Given the description of an element on the screen output the (x, y) to click on. 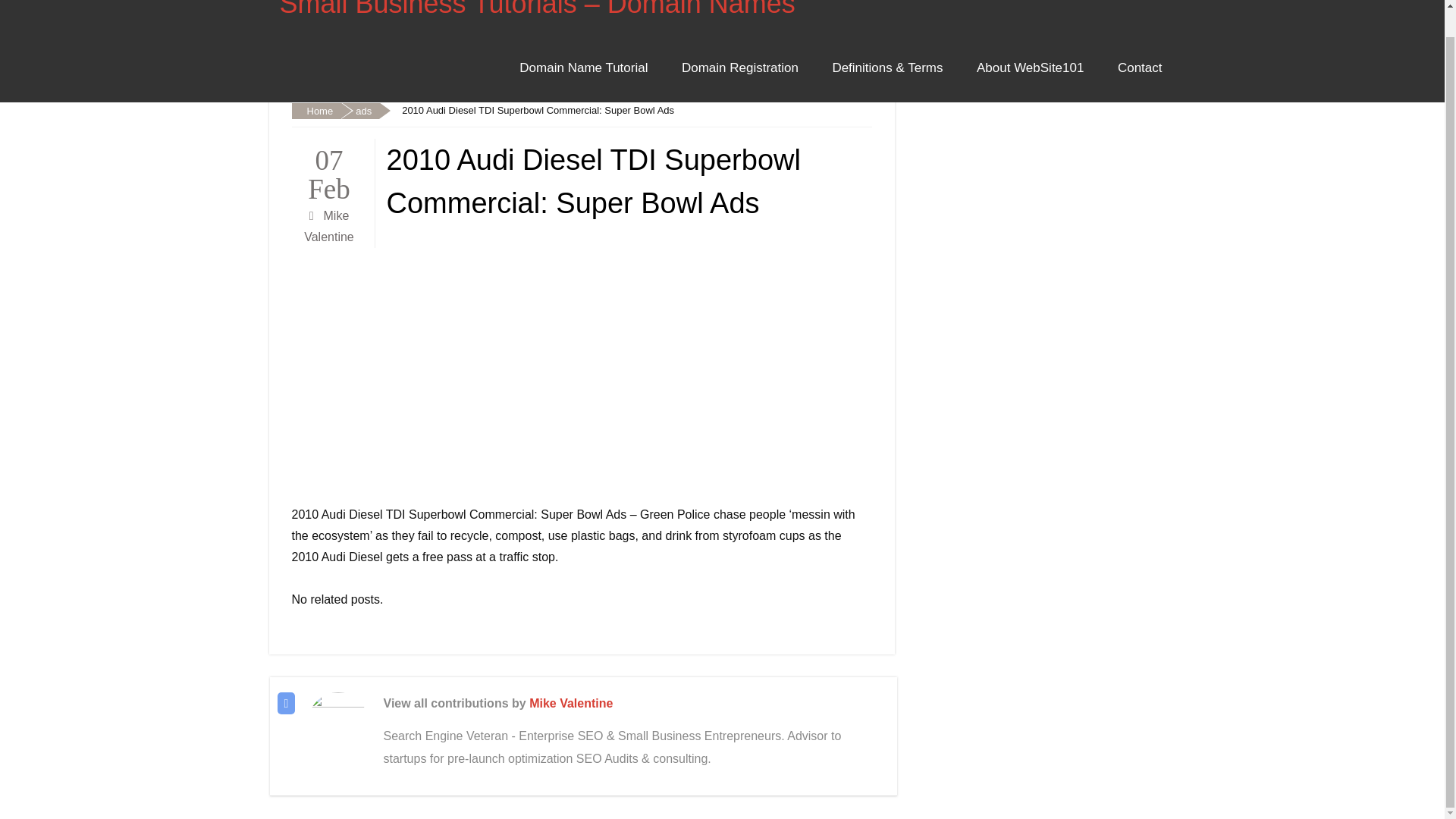
Home (315, 110)
Mike Valentine (570, 703)
Domain Registration (739, 68)
2010-02-07 (328, 170)
Domain Name Tutorial (582, 68)
ads (359, 110)
Posts by Mike Valentine (570, 703)
About WebSite101 (1029, 68)
Contact (1139, 68)
